Given the description of an element on the screen output the (x, y) to click on. 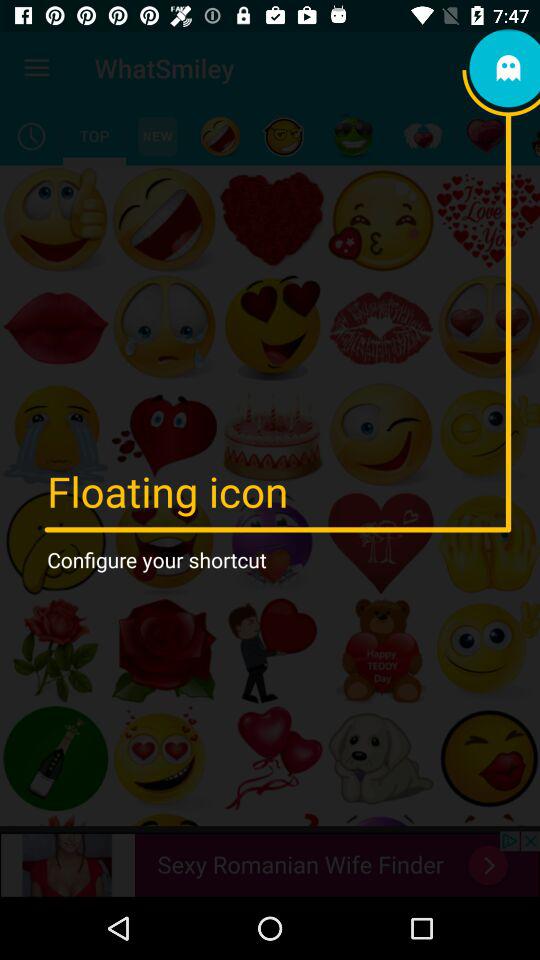
go to nerdy emjois (283, 136)
